Given the description of an element on the screen output the (x, y) to click on. 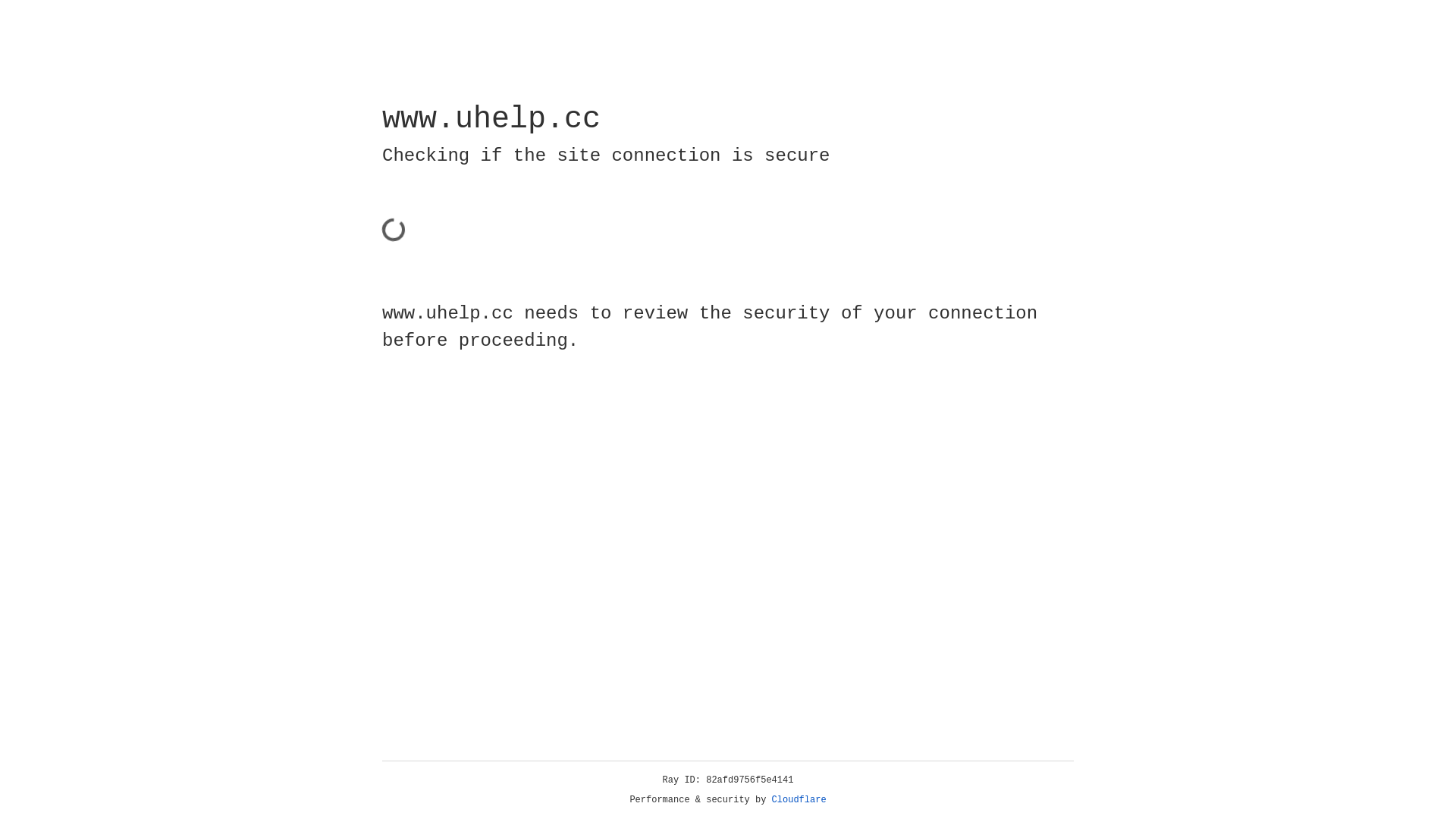
Cloudflare Element type: text (798, 799)
